Given the description of an element on the screen output the (x, y) to click on. 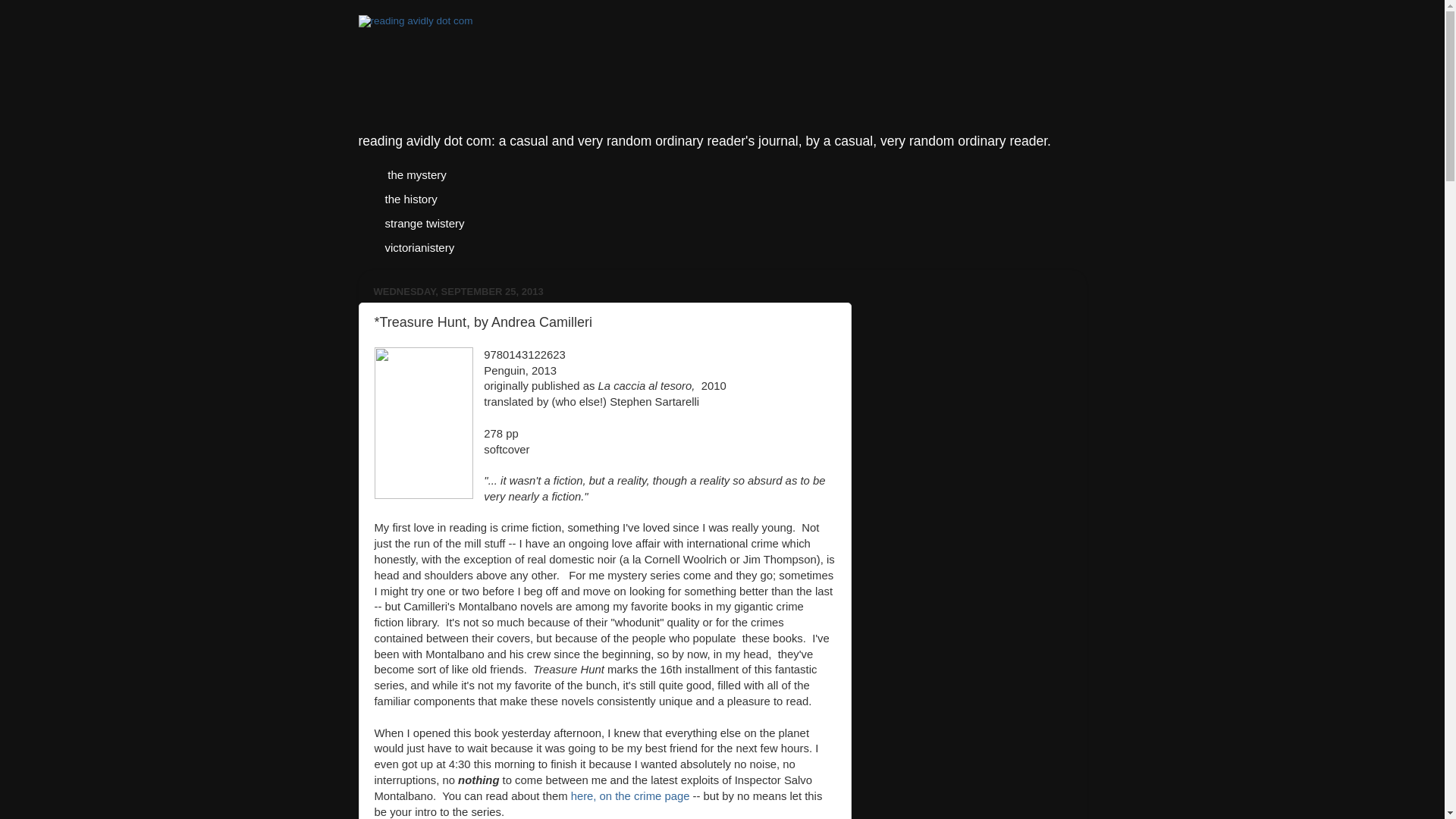
here, on the crime page (630, 796)
the history (410, 198)
the mystery (415, 174)
strange twistery (424, 222)
victorianistery (418, 247)
